Given the description of an element on the screen output the (x, y) to click on. 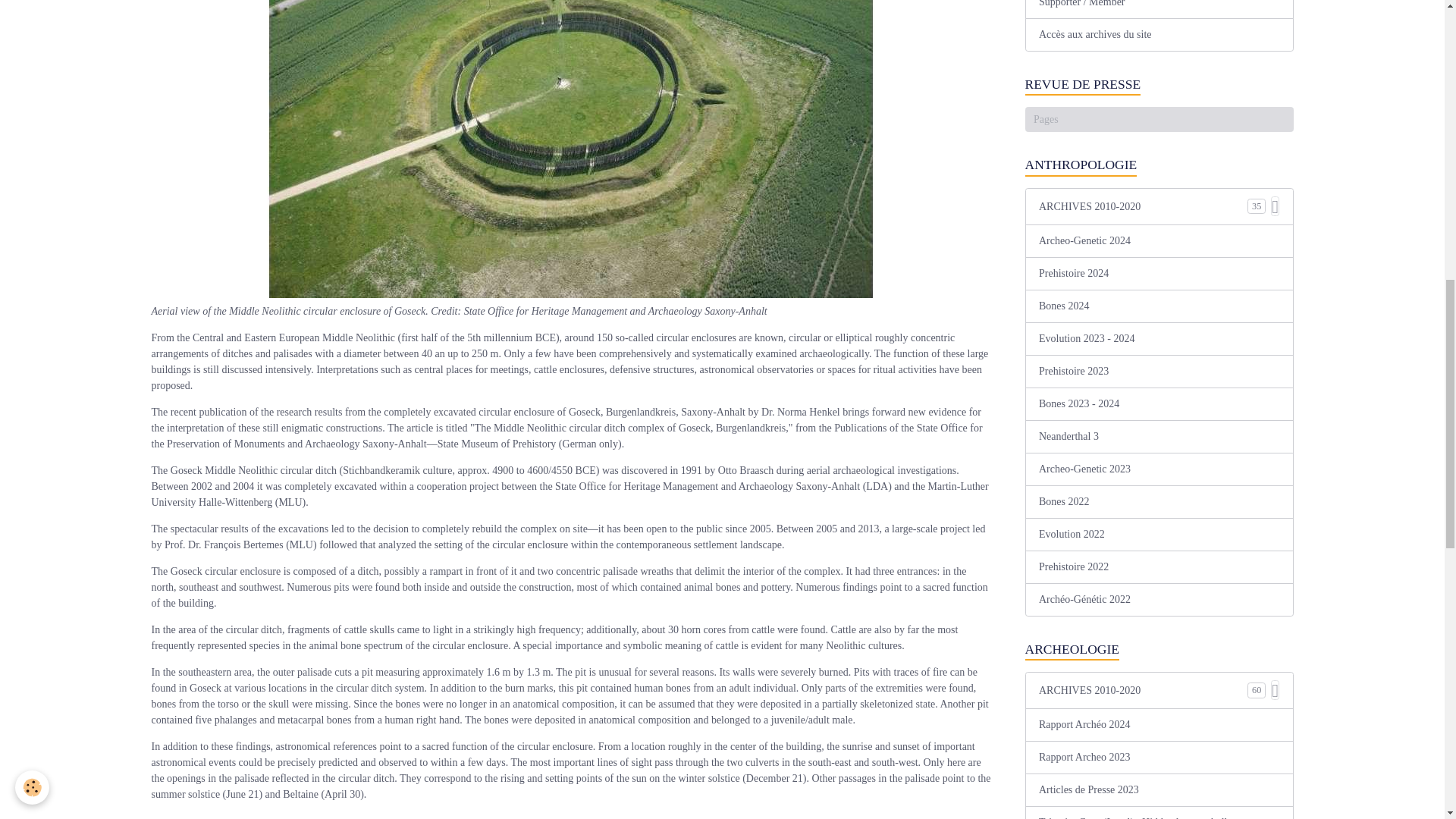
ANTHROPOLOGIE (1159, 165)
REVUE DE PRESSE (1159, 84)
